Given the description of an element on the screen output the (x, y) to click on. 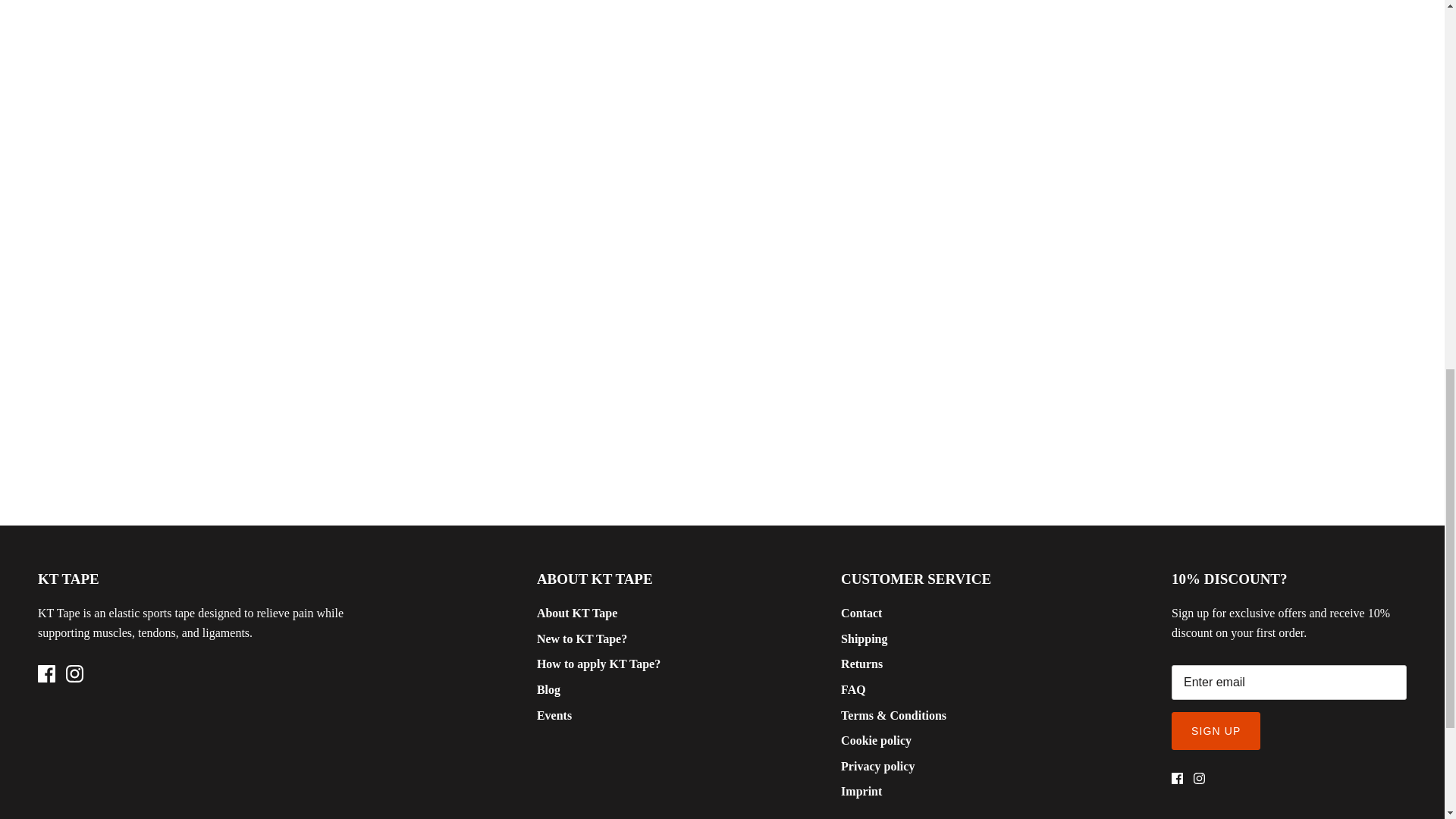
Instagram (73, 673)
Facebook (1177, 778)
Instagram (1199, 778)
Facebook (46, 673)
